Given the description of an element on the screen output the (x, y) to click on. 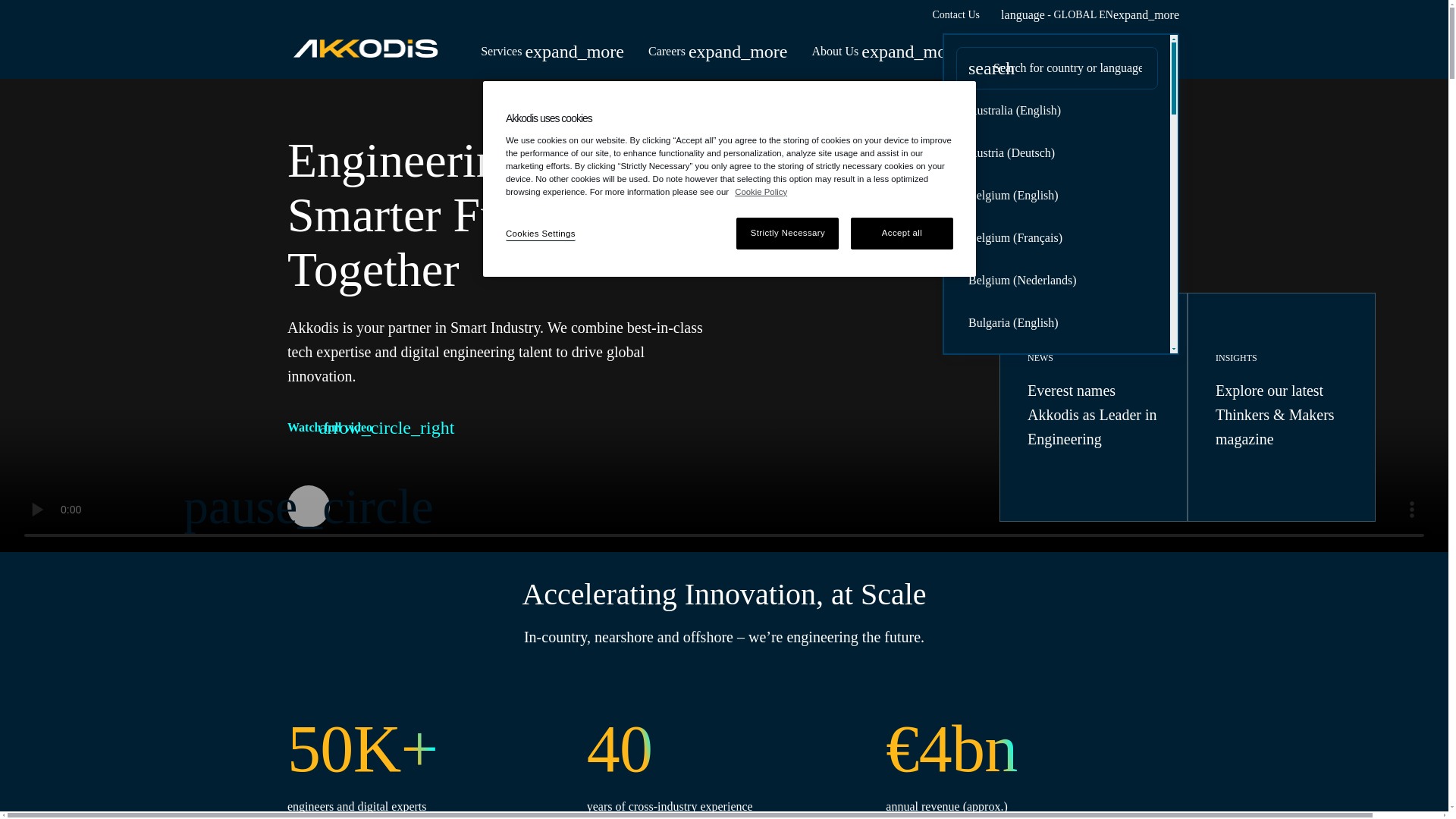
Change country to Canada and language to fr (1056, 815)
Change country to Germany and language to de (1056, 577)
Change country to Australia and language to en (1056, 110)
Change country to Czech Republic and language to en (1056, 492)
Contact Us (955, 15)
Change country to Belgium and language to fr (1056, 238)
Change country to India and language to en (1056, 662)
Change country to Belgium and language to nl (1056, 280)
Change country to Canada and language to en (1056, 364)
Change country to Italy and language to en (1056, 704)
